Given the description of an element on the screen output the (x, y) to click on. 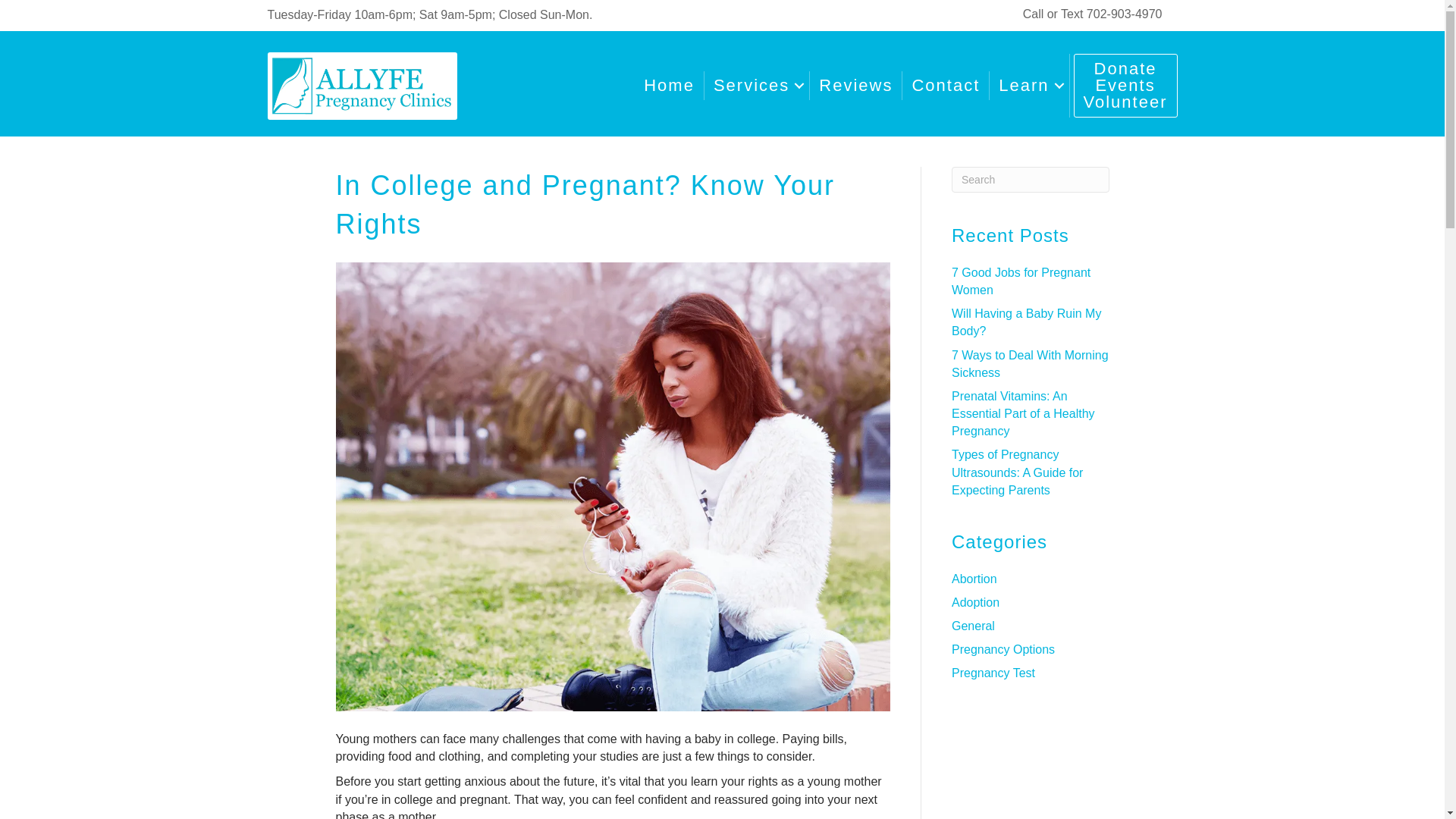
Will Having a Baby Ruin My Body? (1125, 85)
Home (1026, 322)
7 Good Jobs for Pregnant Women (668, 55)
Abortion (1021, 281)
Adoption (974, 578)
Contact (975, 602)
Reviews (945, 79)
Services (855, 77)
